Given the description of an element on the screen output the (x, y) to click on. 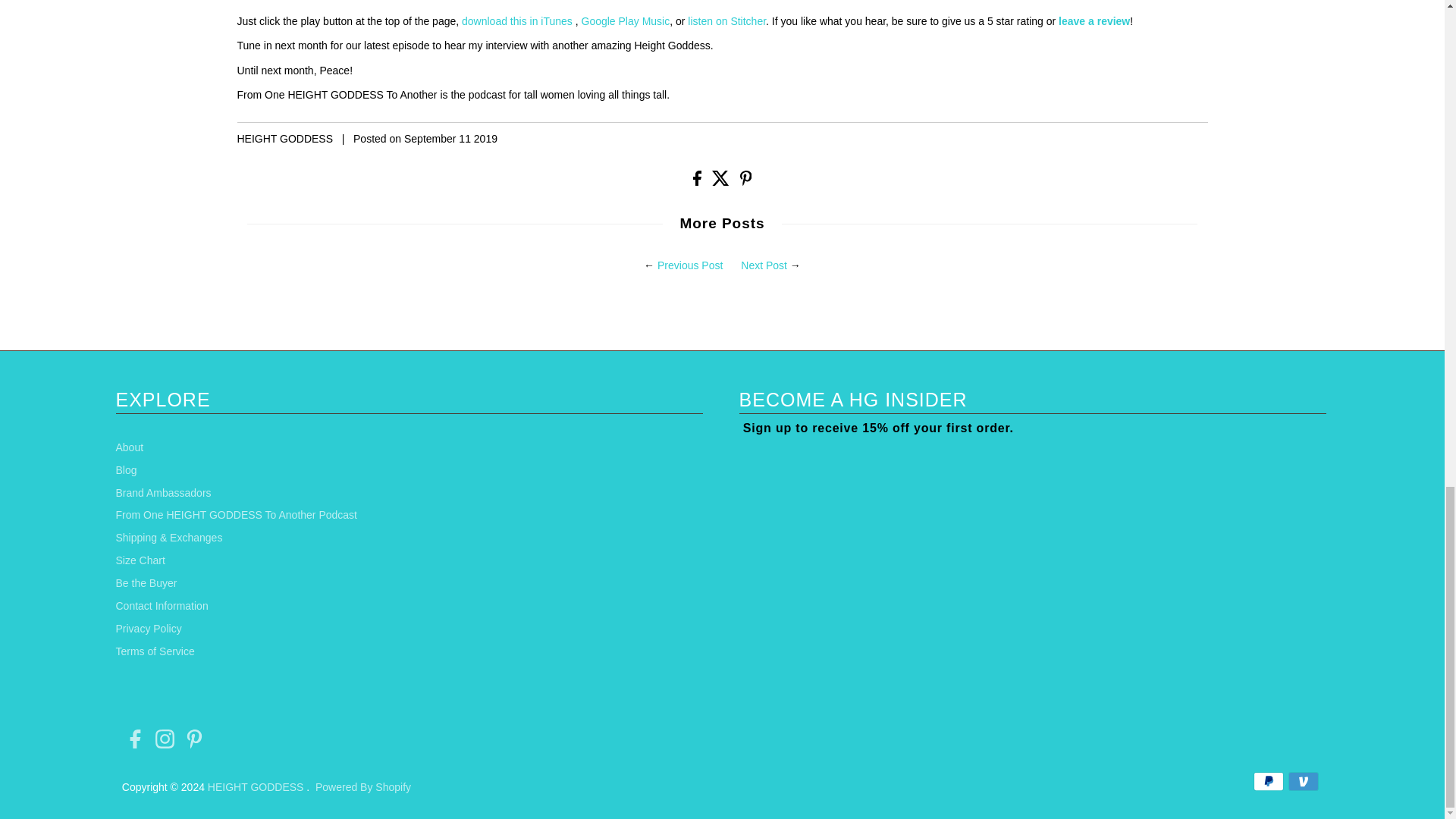
PayPal (1268, 781)
Venmo (1303, 781)
